Given the description of an element on the screen output the (x, y) to click on. 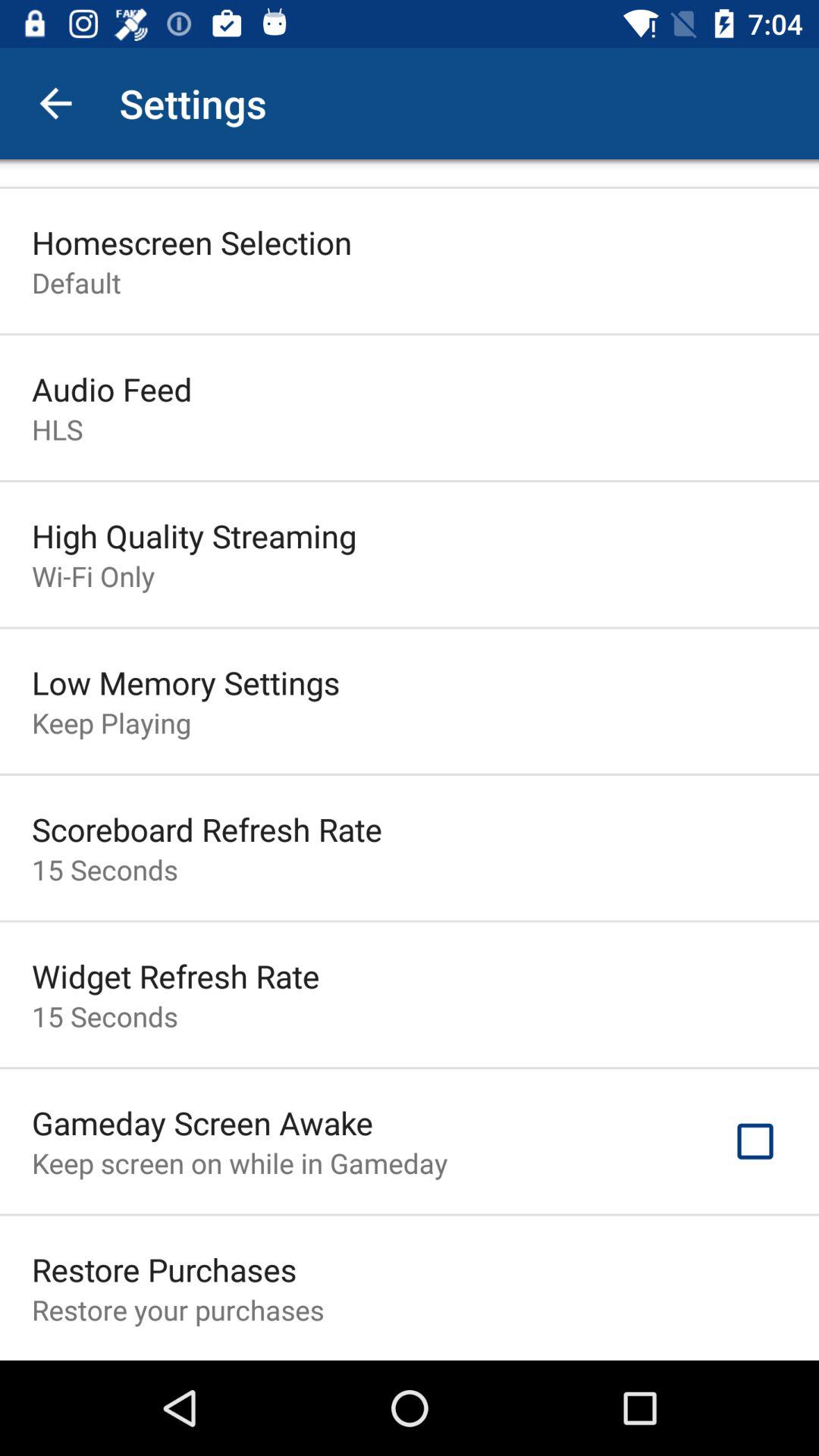
choose the icon below default (111, 388)
